Given the description of an element on the screen output the (x, y) to click on. 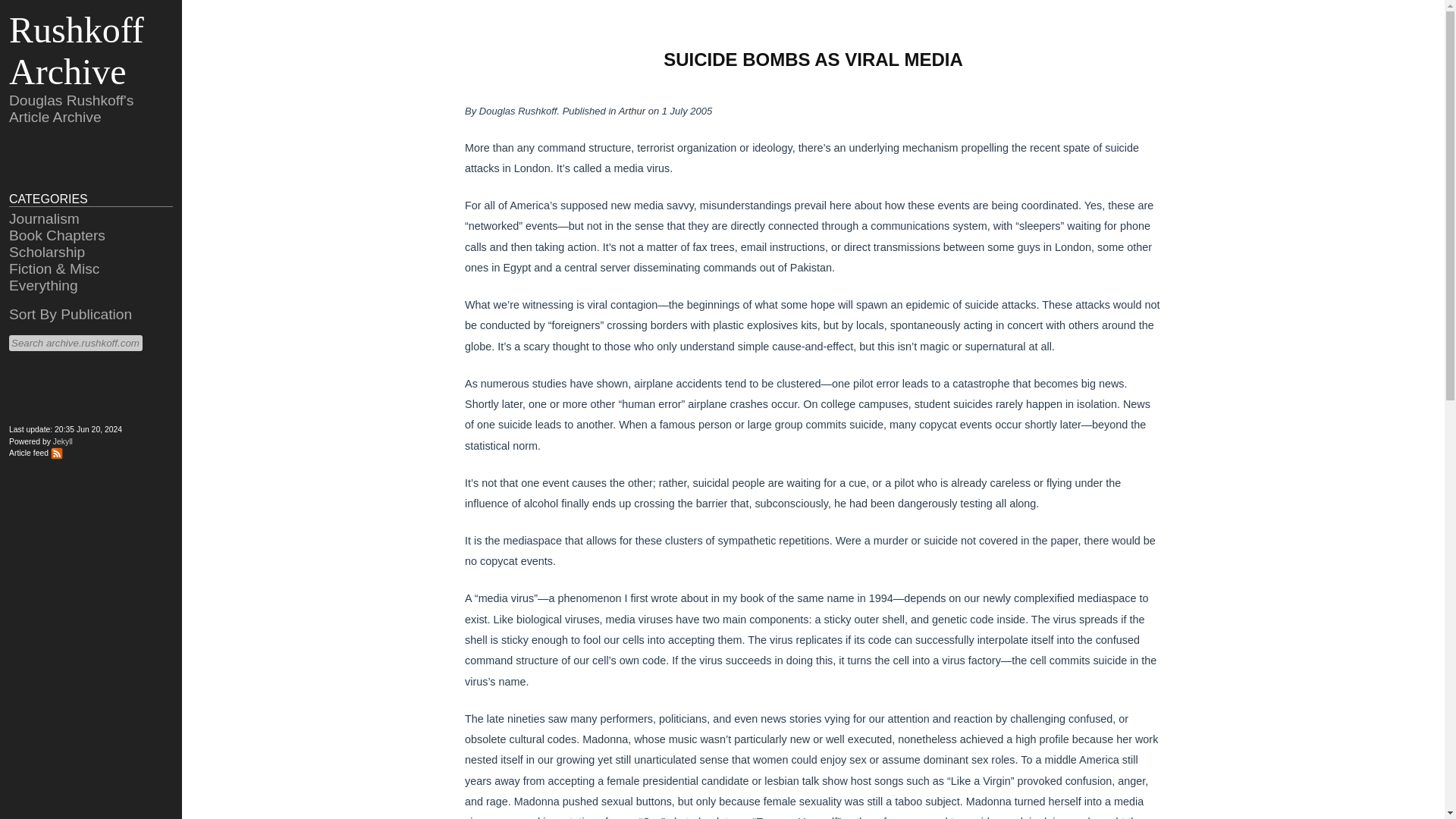
Journalism (44, 218)
Arthur (631, 111)
Rushkoff Archive (76, 50)
Scholarship (46, 252)
Book Chapters (56, 235)
Everything (43, 285)
Sort By Publication (70, 314)
Jekyll (62, 441)
